Given the description of an element on the screen output the (x, y) to click on. 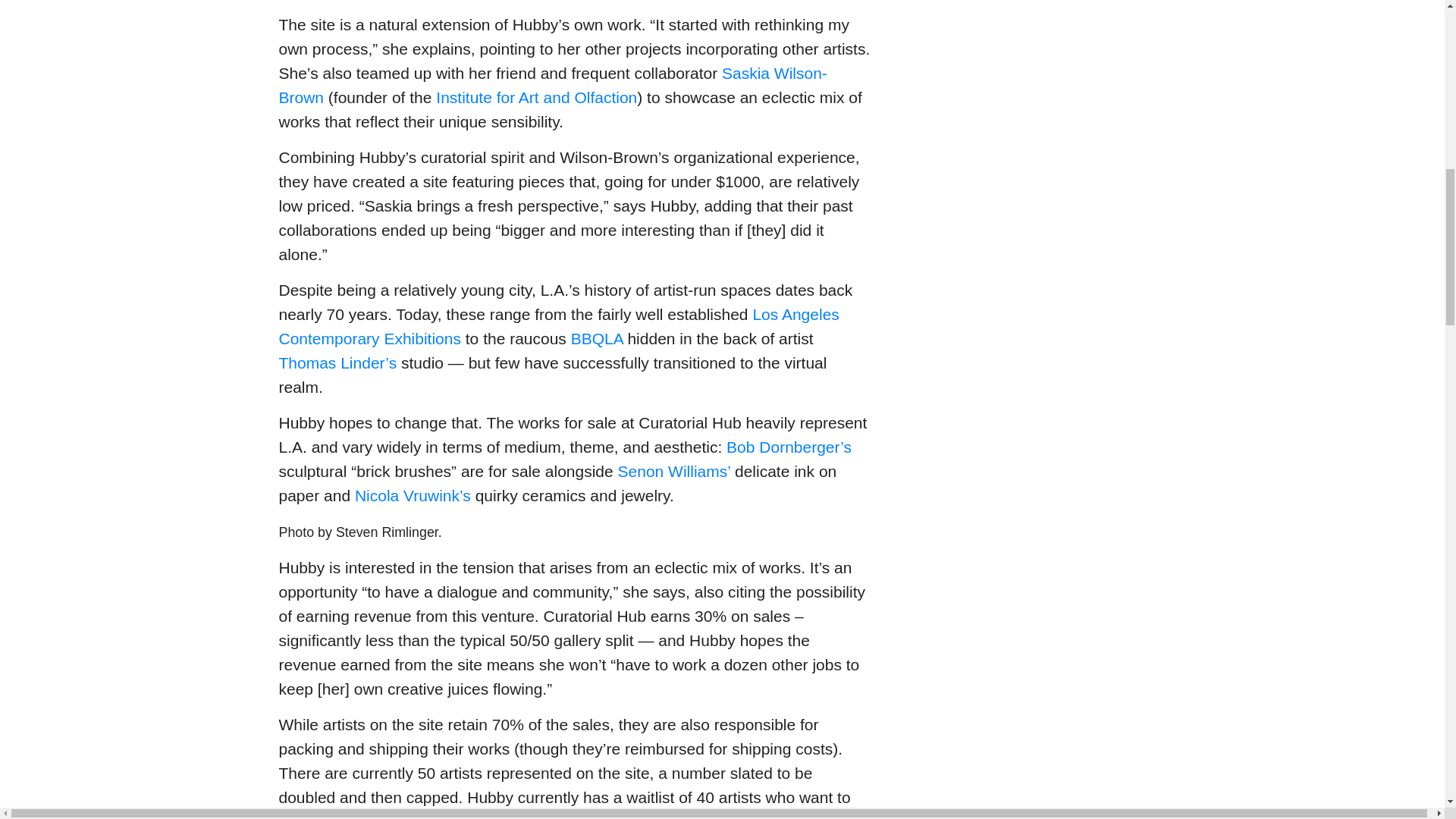
Institute for Art and Olfaction (536, 97)
Saskia Wilson-Brown (553, 85)
Los Angeles Contemporary Exhibitions (559, 326)
BBQLA (596, 338)
